Given the description of an element on the screen output the (x, y) to click on. 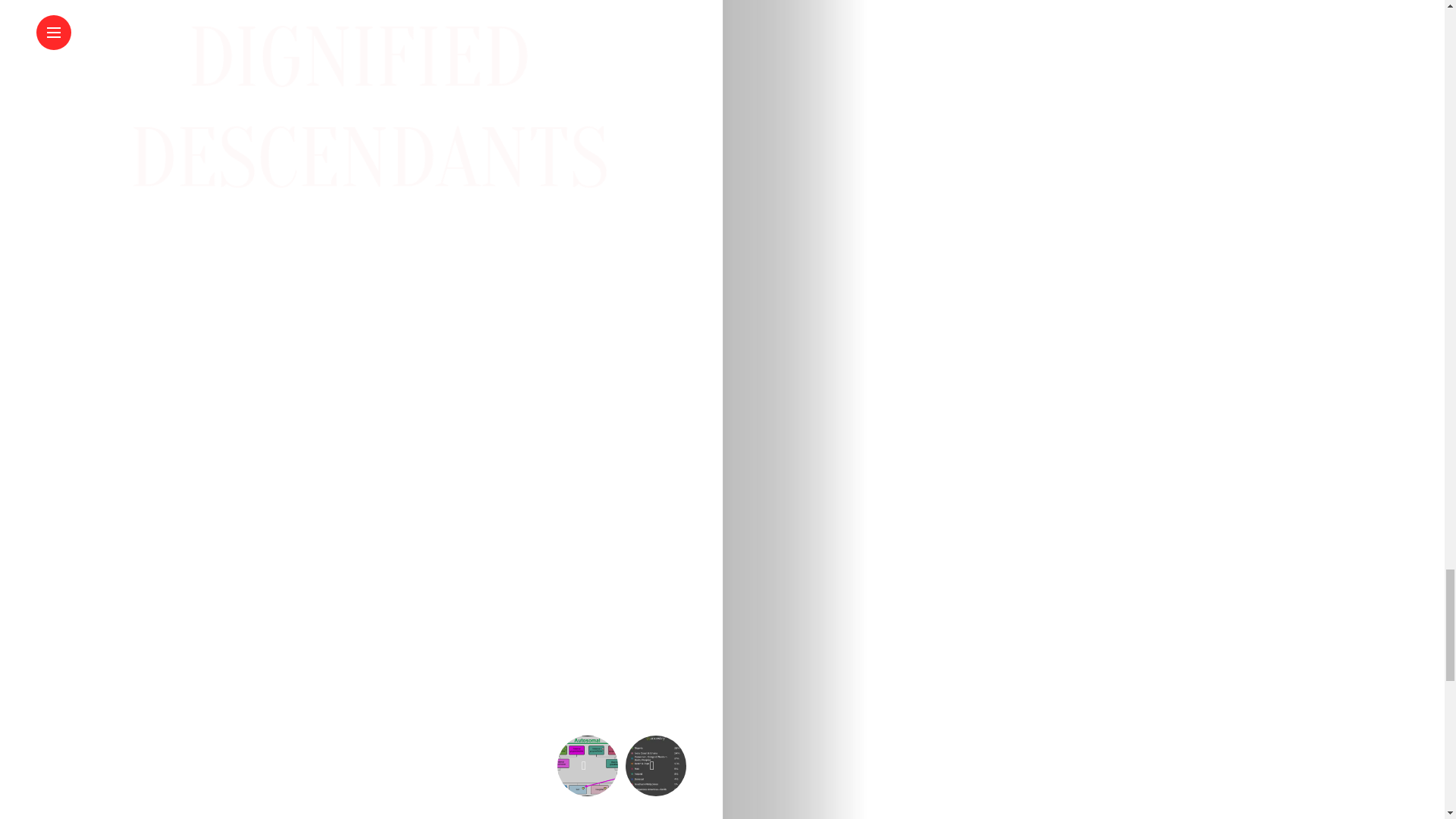
Subscribe (640, 279)
Please fill in this field. (312, 298)
More (63, 717)
